Given the description of an element on the screen output the (x, y) to click on. 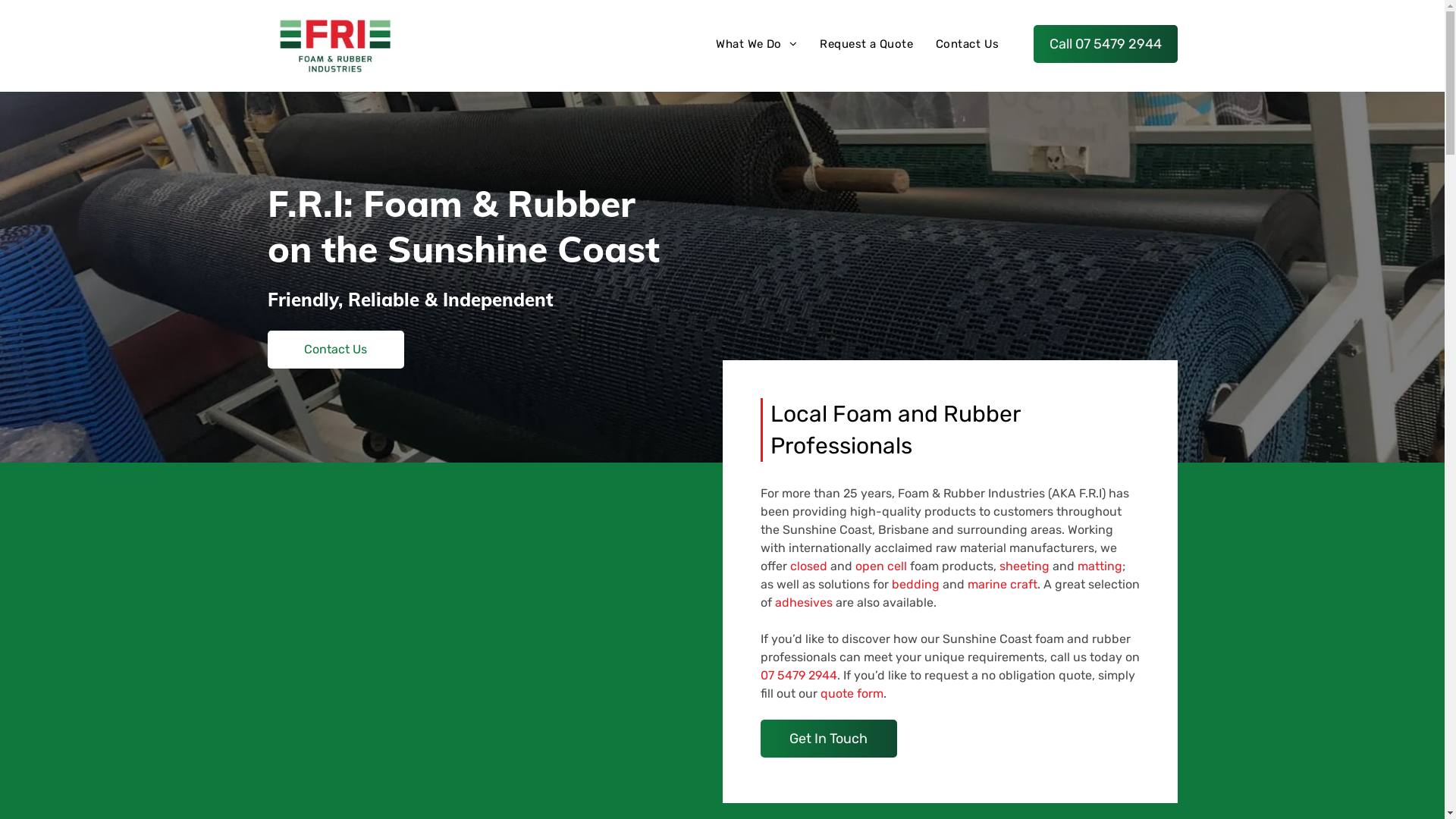
Request a Quote Element type: text (866, 44)
Contact Us Element type: text (334, 349)
closed Element type: text (808, 565)
What We Do Element type: text (756, 44)
07 5479 2944 Element type: text (797, 675)
adhesives Element type: text (803, 602)
open cell Element type: text (880, 565)
Get In Touch Element type: text (827, 738)
quote form Element type: text (851, 693)
Contact Us Element type: text (967, 44)
F.R.I Industries: Foam & Rubber on the Sunshine Coast Element type: hover (335, 47)
Call 07 5479 2944 Element type: text (1104, 43)
marine craft Element type: text (1002, 584)
sheeting Element type: text (1024, 565)
matting Element type: text (1098, 565)
bedding Element type: text (915, 584)
